Given the description of an element on the screen output the (x, y) to click on. 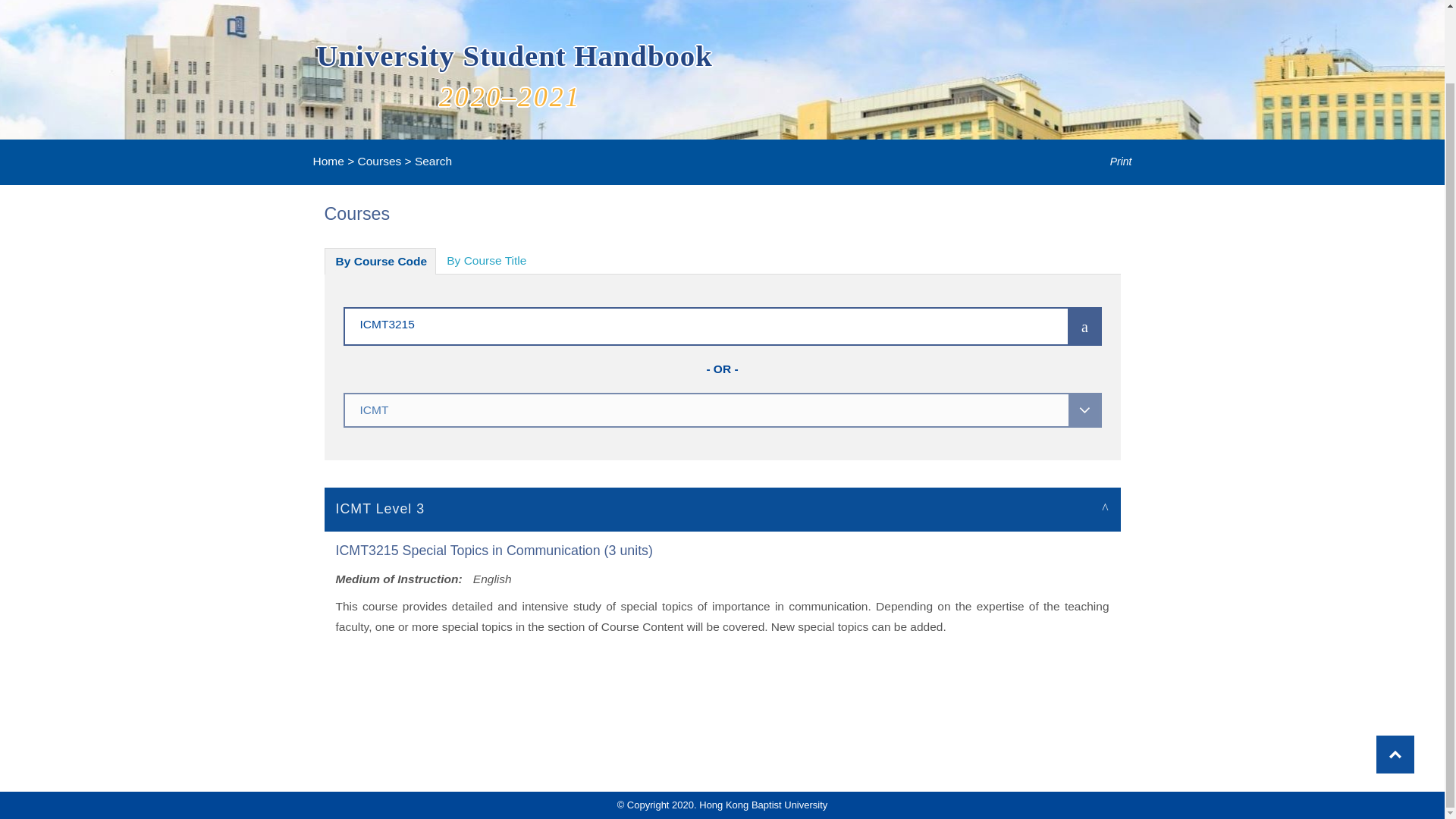
ICMT Level 3 (722, 508)
Scroll To Top (1394, 672)
By Course Title (486, 260)
Scroll To Top (1394, 672)
Scroll To Top (1394, 672)
Print (1110, 161)
Courses (379, 160)
ICMT3215 (683, 322)
ICMT3215 (683, 322)
Home (328, 160)
By Course Code (381, 261)
